Given the description of an element on the screen output the (x, y) to click on. 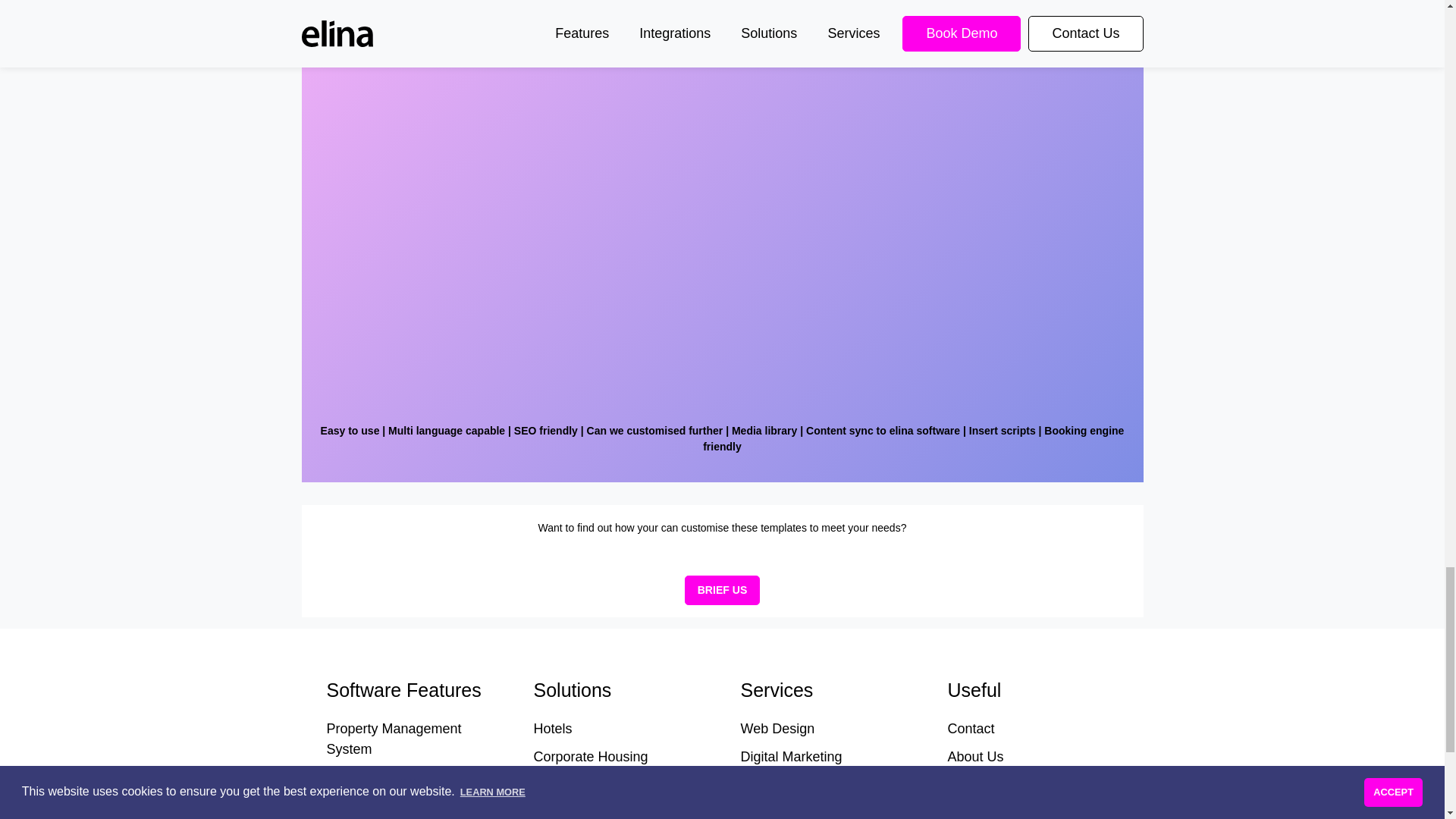
Software Features (411, 689)
Property Management System (393, 738)
Channel Manager (379, 805)
BRIEF US (722, 590)
Booking Engine (374, 776)
